Given the description of an element on the screen output the (x, y) to click on. 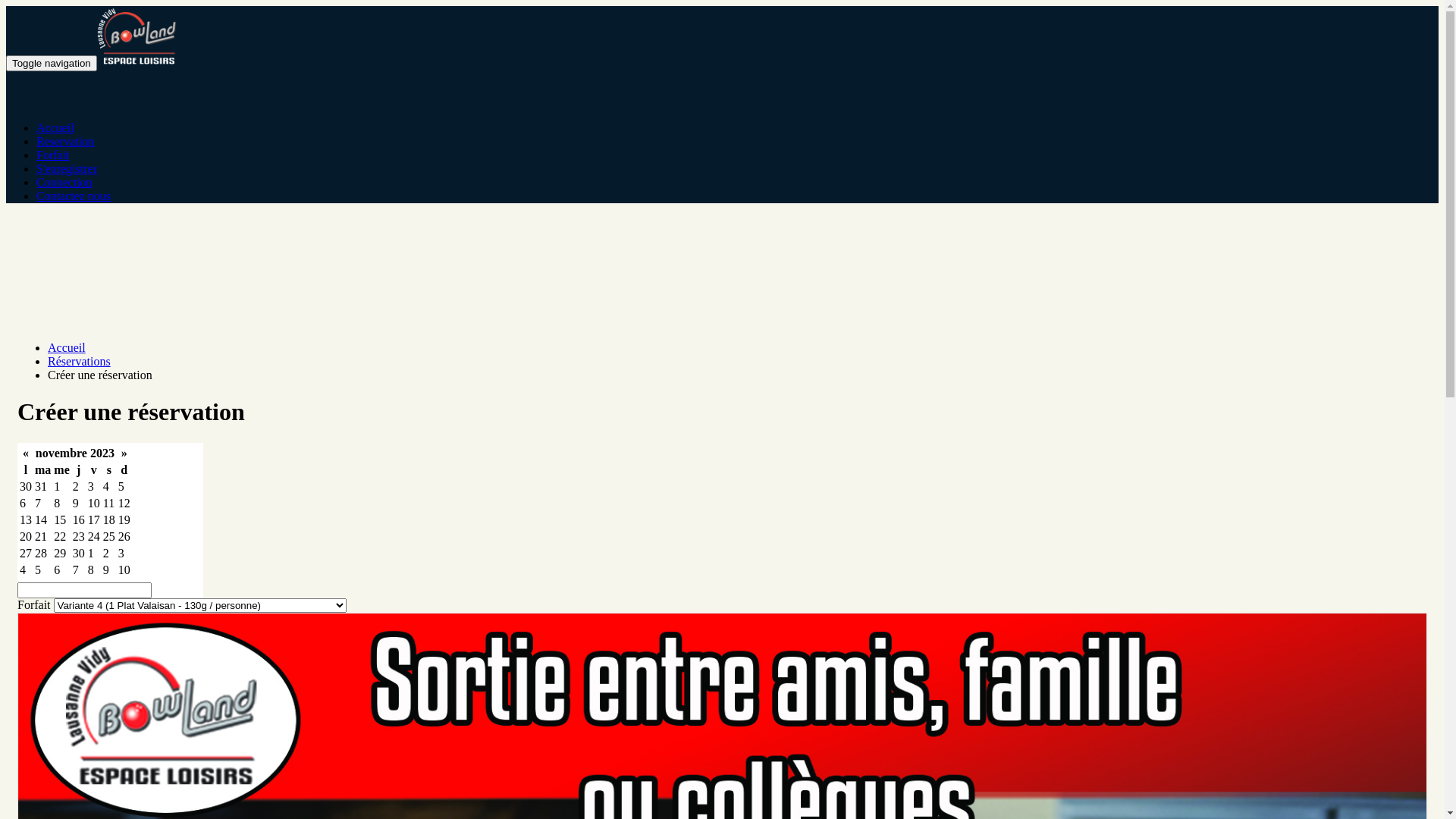
S'enregistrer Element type: text (66, 168)
Forfait Element type: text (52, 154)
Accueil Element type: text (55, 127)
Contactez nous Element type: text (73, 195)
Reservation Element type: text (65, 140)
Toggle navigation Element type: text (51, 63)
Connection Element type: text (64, 181)
Accueil Element type: text (66, 347)
